Given the description of an element on the screen output the (x, y) to click on. 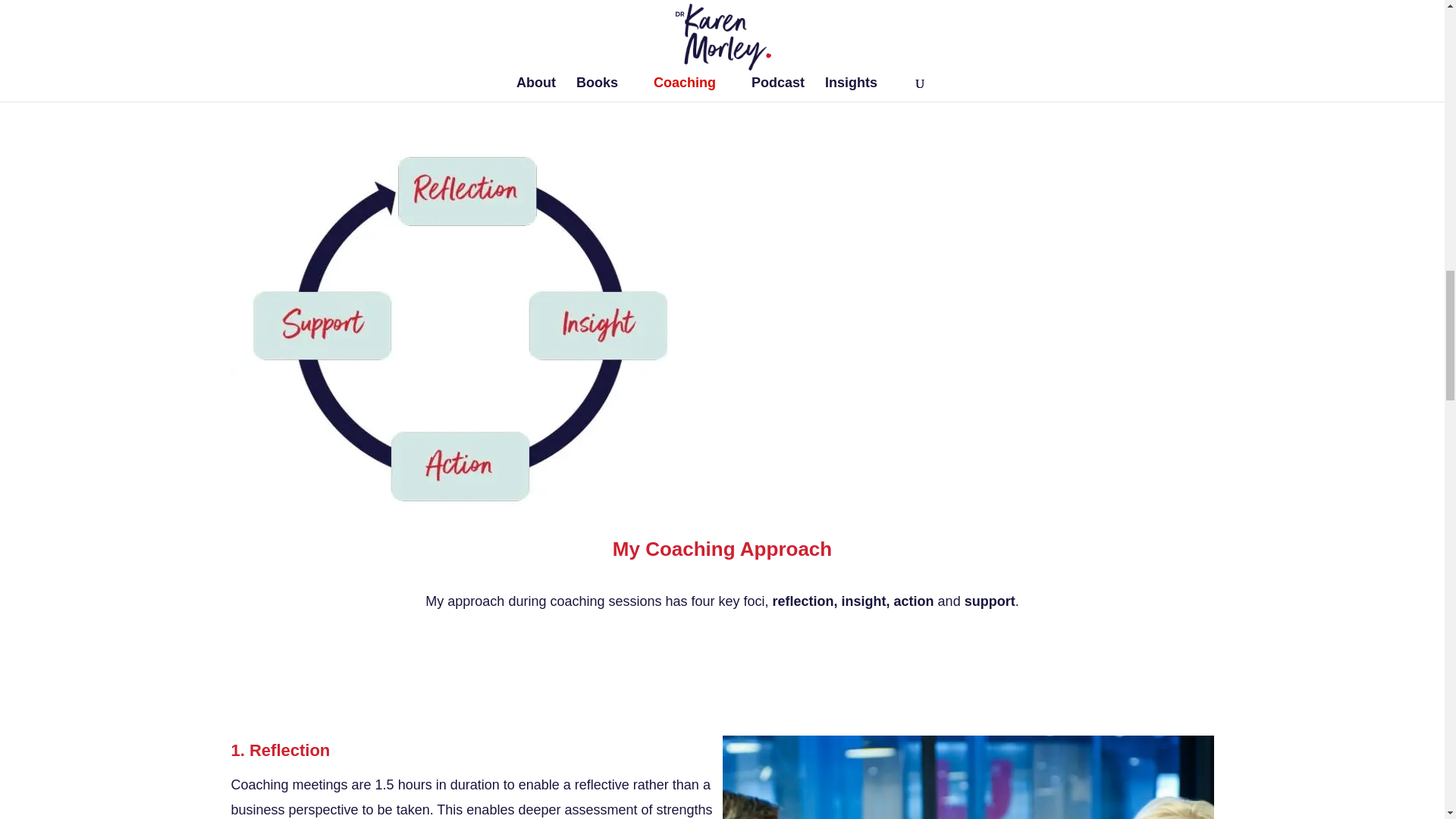
Leadership-Coaching-1 (967, 777)
Karen Morley Executive Coaching Framework (588, 4)
